Given the description of an element on the screen output the (x, y) to click on. 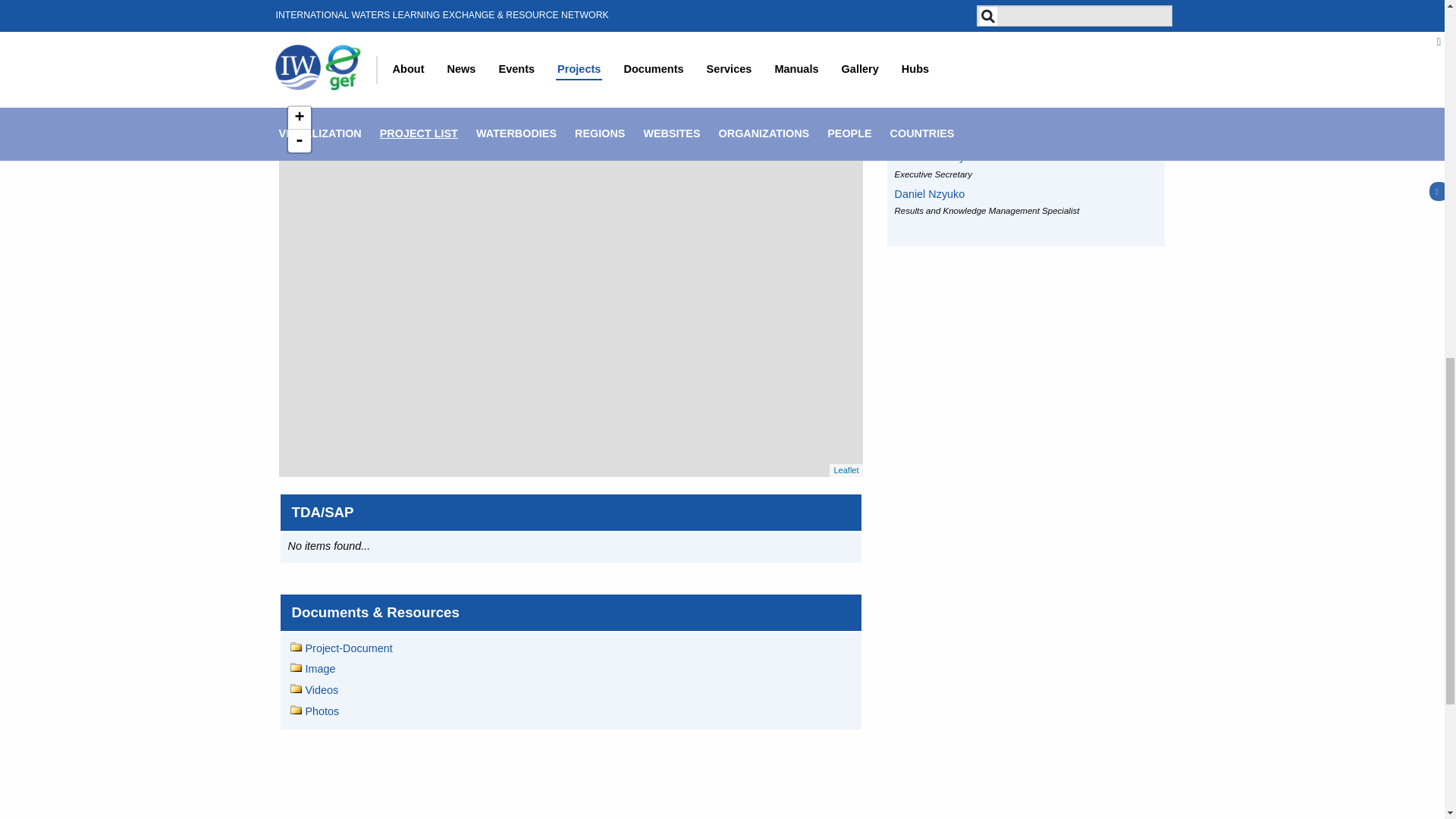
Zoom out (299, 140)
A JS library for interactive maps (845, 470)
Zoom in (299, 118)
